Given the description of an element on the screen output the (x, y) to click on. 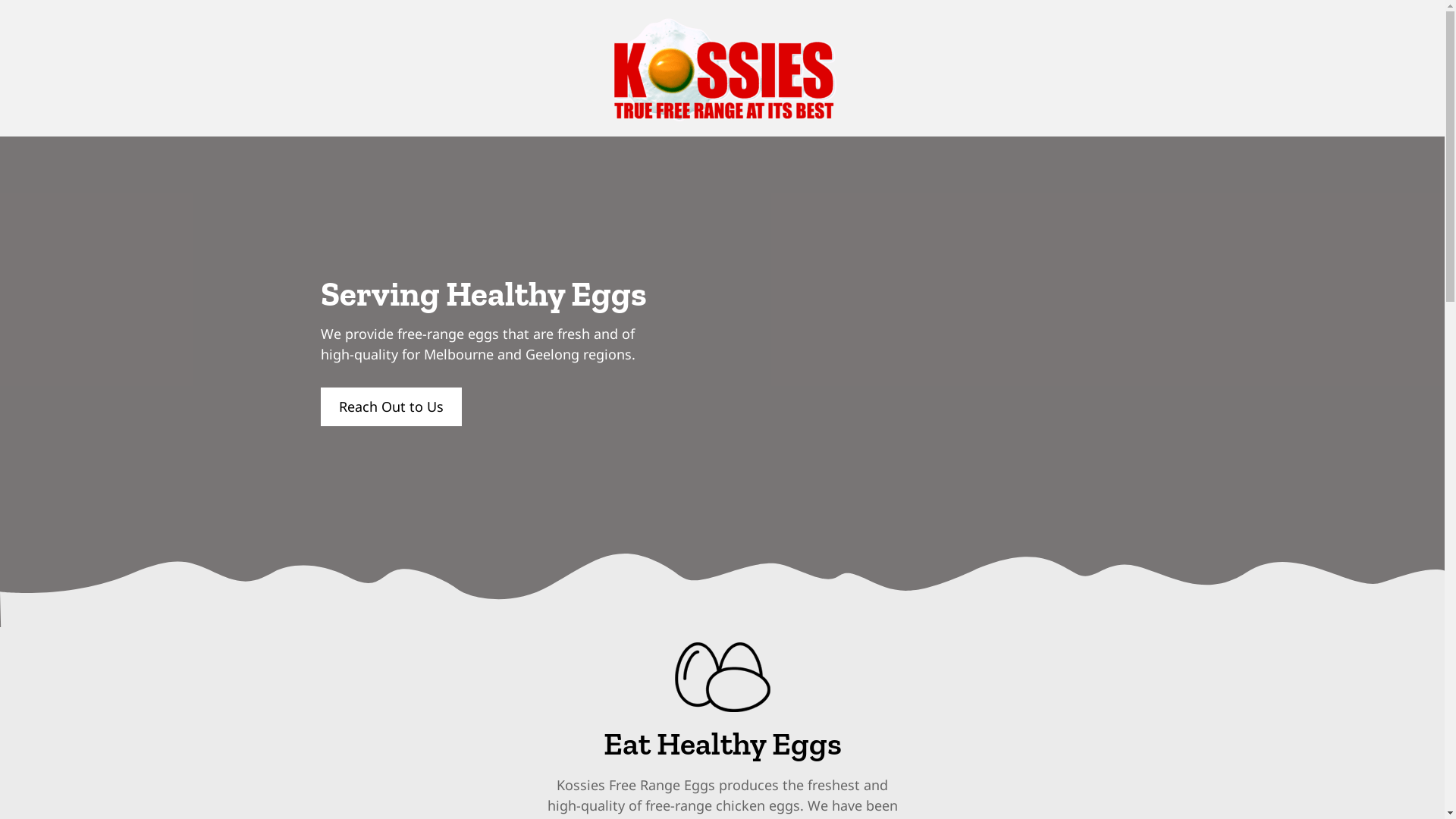
Kossies_logo Element type: hover (721, 68)
Kossies Free Range Eggs Element type: hover (722, 677)
Reach Out to Us Element type: text (390, 405)
